Given the description of an element on the screen output the (x, y) to click on. 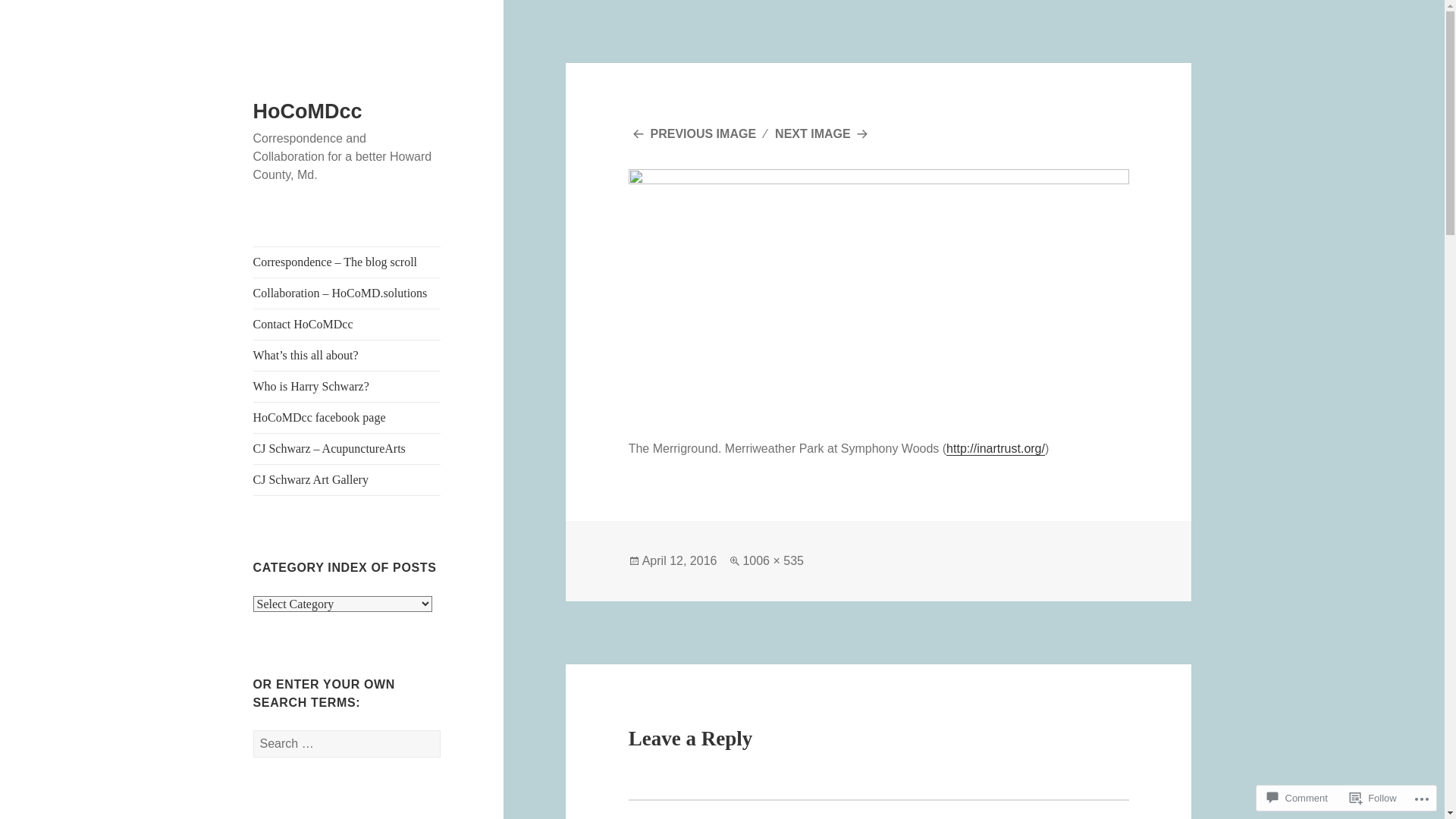
Contact HoCoMDcc Element type: text (347, 324)
Comment Element type: text (1296, 797)
CJ Schwarz Art Gallery Element type: text (347, 479)
HoCoMDcc facebook page Element type: text (347, 417)
HoCoMDcc Element type: text (307, 111)
Follow Element type: text (1372, 797)
http://inartrust.org/ Element type: text (995, 448)
NEXT IMAGE Element type: text (823, 133)
PREVIOUS IMAGE Element type: text (692, 133)
Who is Harry Schwarz? Element type: text (347, 386)
April 12, 2016 Element type: text (679, 560)
